Given the description of an element on the screen output the (x, y) to click on. 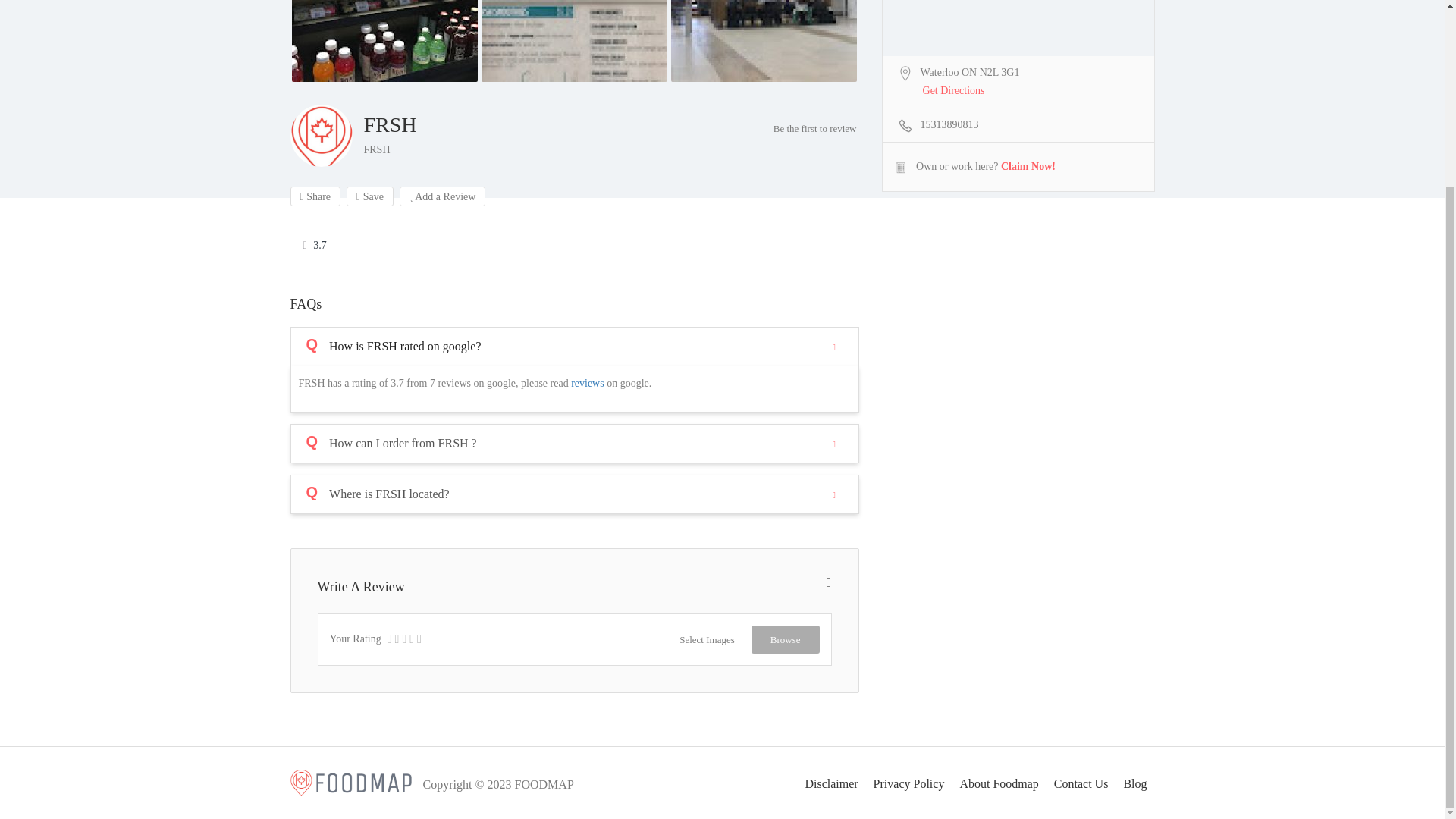
Submit (413, 269)
